Given the description of an element on the screen output the (x, y) to click on. 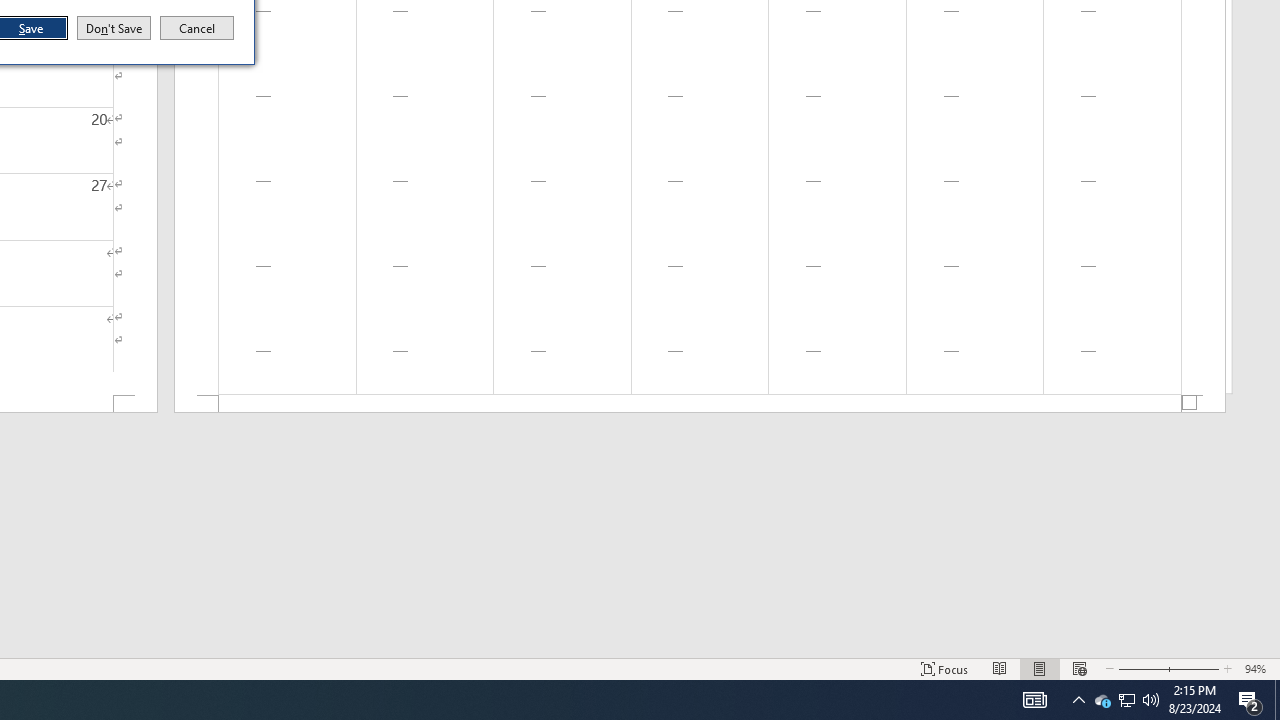
Don't Save (113, 27)
Q2790: 100% (1151, 699)
Notification Chevron (1078, 699)
Zoom In (1193, 668)
